Given the description of an element on the screen output the (x, y) to click on. 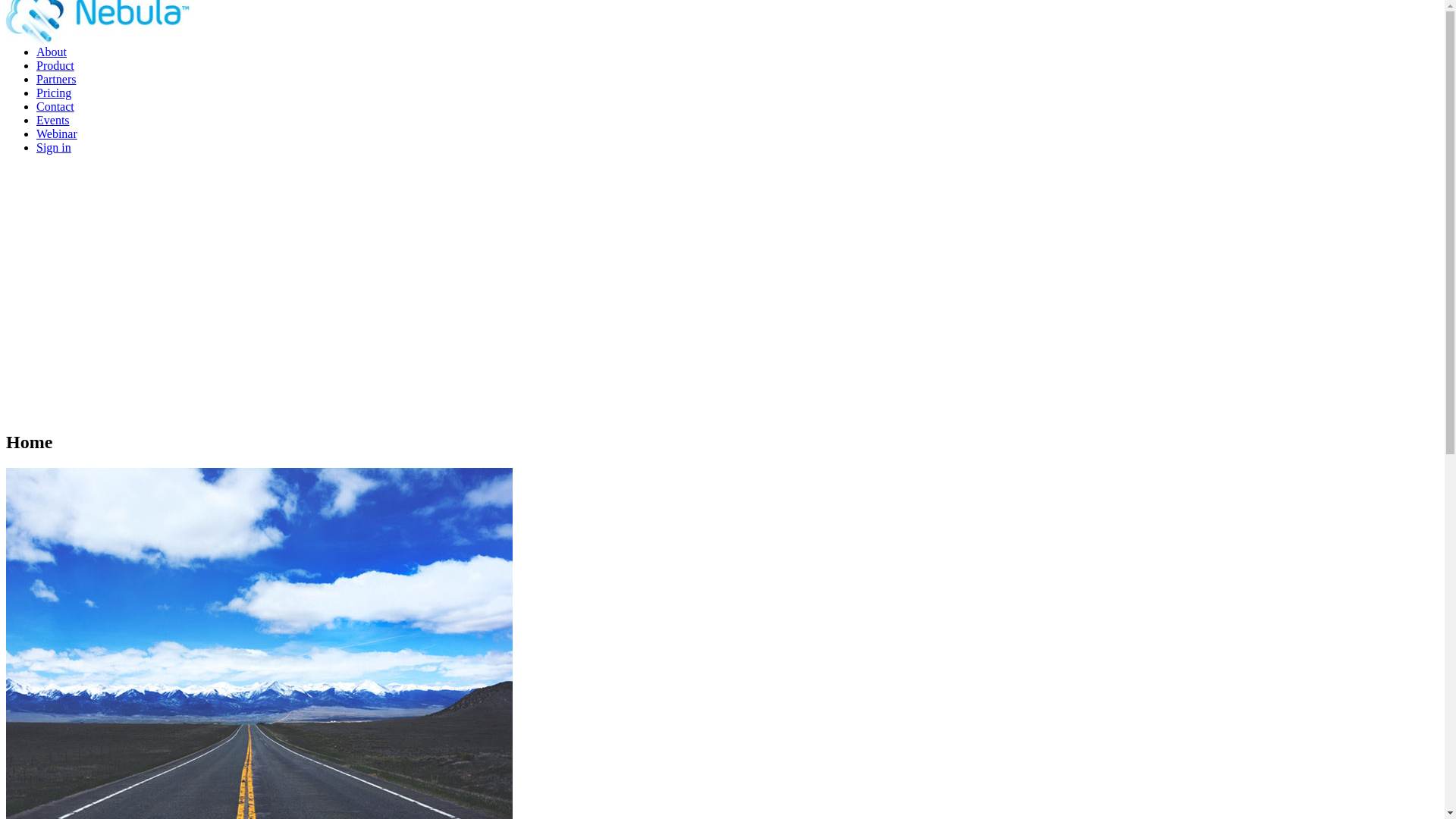
About Element type: text (51, 51)
Contact Element type: text (55, 106)
Home Element type: text (50, 37)
Events Element type: text (52, 119)
Sign in Element type: text (53, 147)
Product Element type: text (55, 65)
Pricing Element type: text (53, 92)
Partners Element type: text (55, 78)
Webinar Element type: text (56, 133)
